Given the description of an element on the screen output the (x, y) to click on. 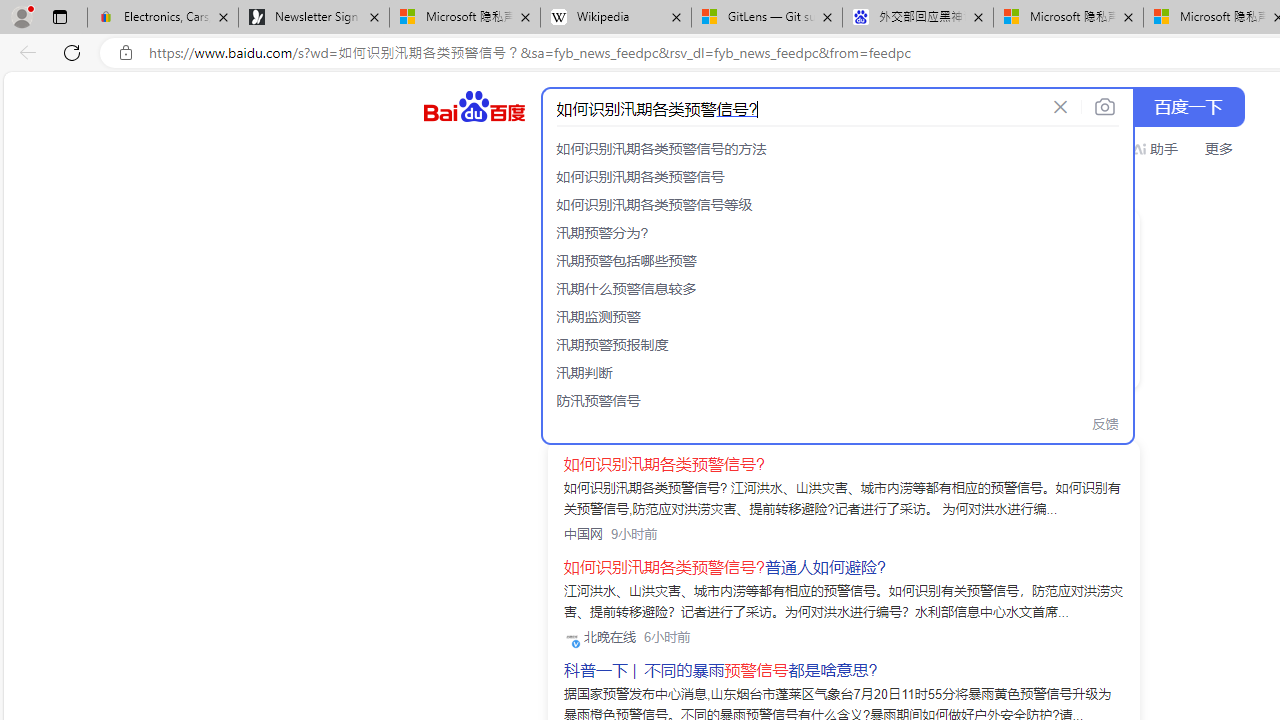
AutomationID: kw (793, 107)
Newsletter Sign Up (314, 17)
